Given the description of an element on the screen output the (x, y) to click on. 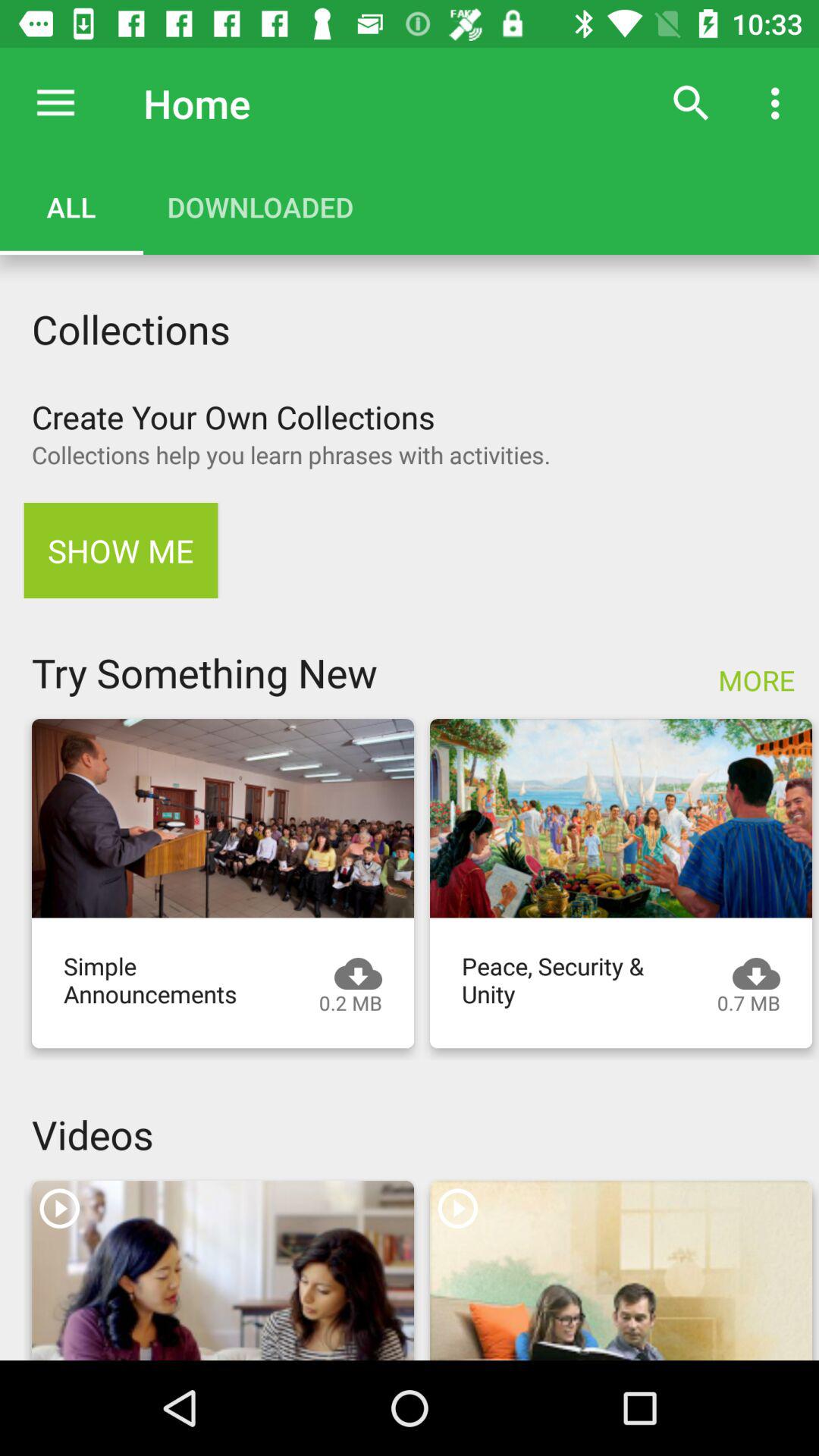
play video (620, 1270)
